Given the description of an element on the screen output the (x, y) to click on. 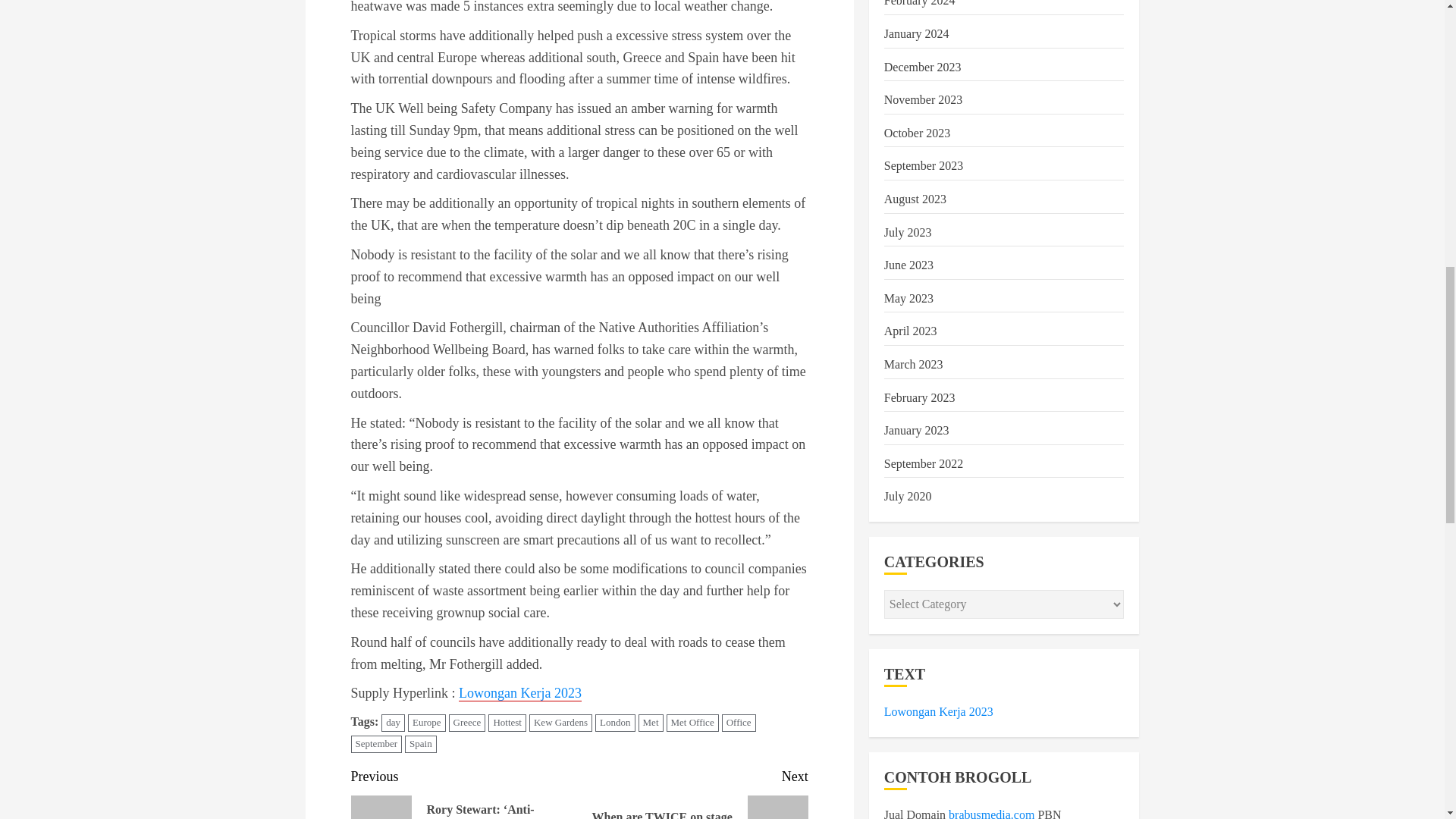
Europe (426, 723)
day (392, 723)
Hottest (506, 723)
Greece (467, 723)
September (375, 743)
Met Office (691, 723)
London (614, 723)
Lowongan Kerja 2023 (519, 693)
Met (651, 723)
Kew Gardens (560, 723)
Office (738, 723)
Spain (420, 743)
